Given the description of an element on the screen output the (x, y) to click on. 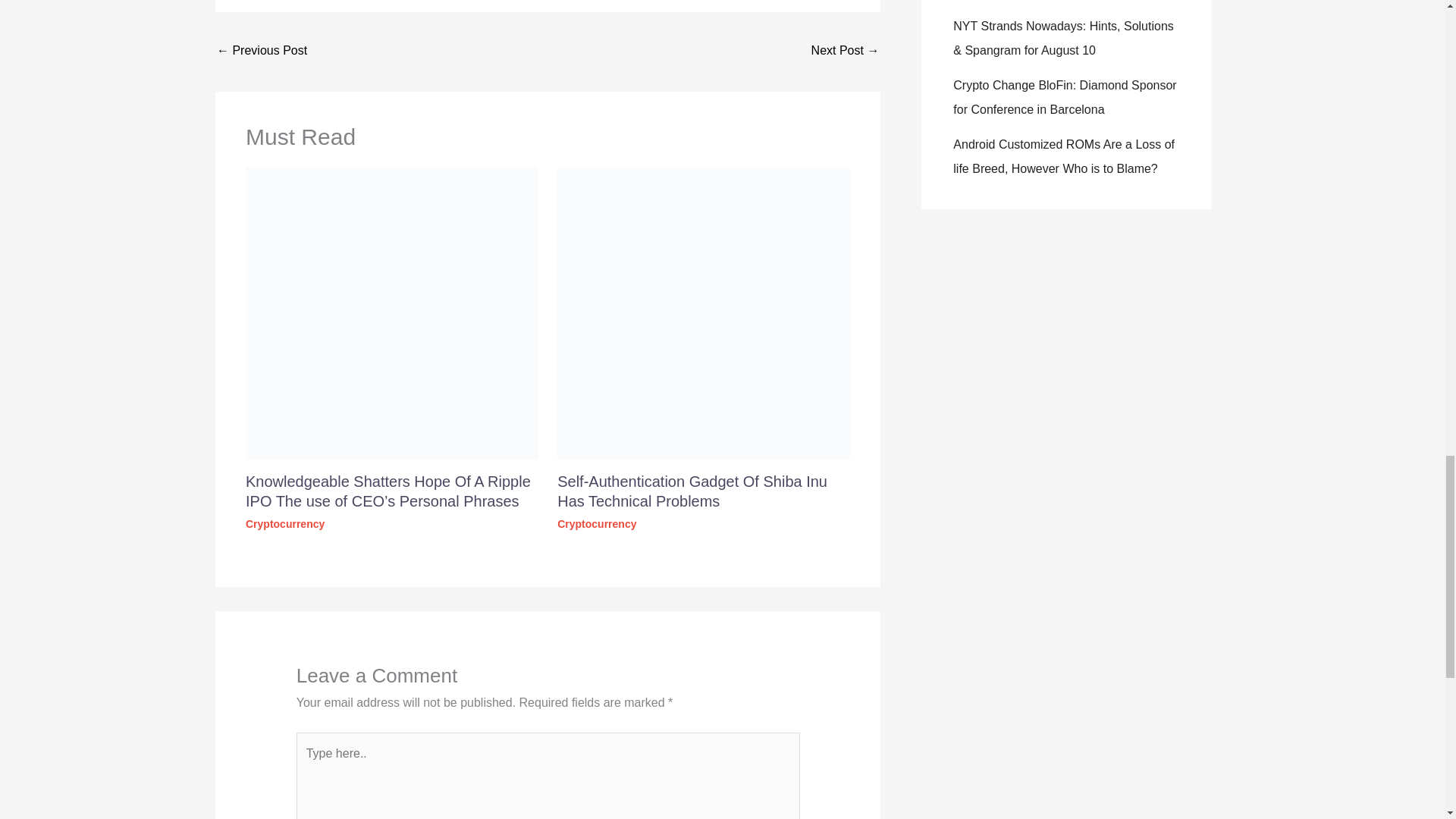
Cryptocurrency (596, 523)
How To Shut Your Trade With Pag-IBIG (261, 51)
Cryptocurrency (285, 523)
Absolute best On Cling Song for Trade (844, 51)
